Given the description of an element on the screen output the (x, y) to click on. 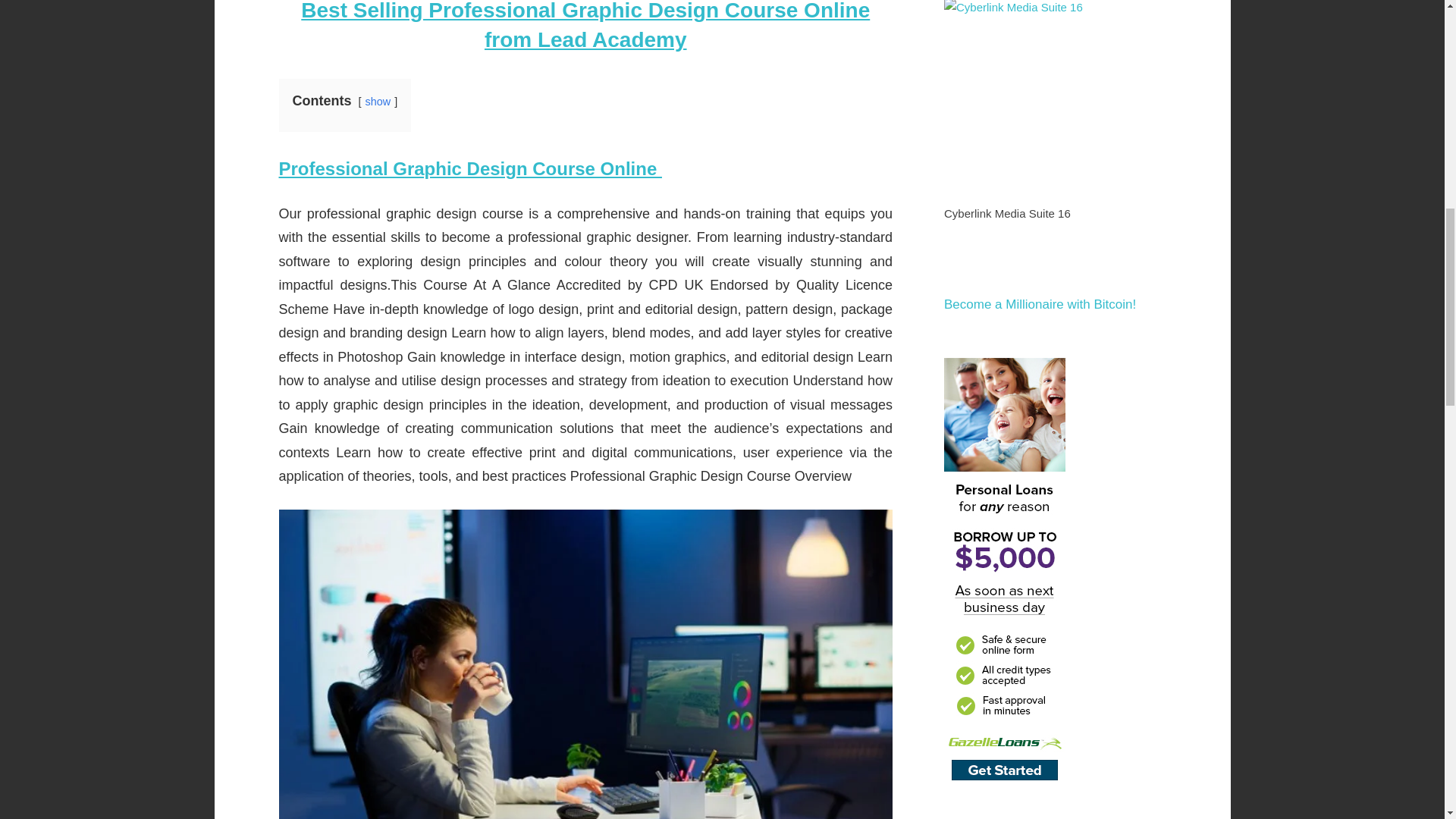
Professional Graphic Design Course Online  (470, 168)
show (378, 101)
